Given the description of an element on the screen output the (x, y) to click on. 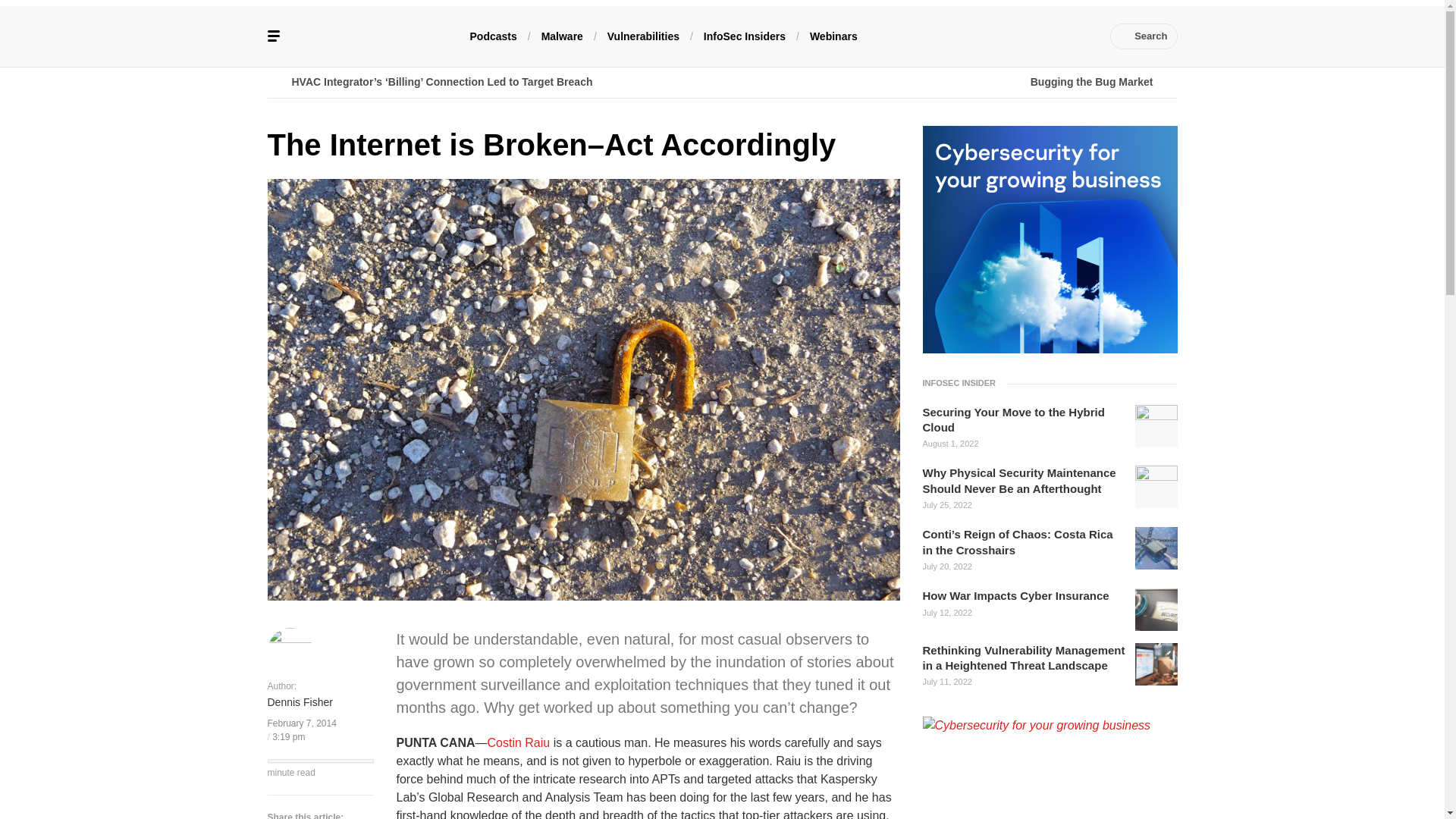
InfoSec Insiders (744, 35)
Twitter (966, 36)
RSS (1080, 36)
Securing Your Move to the Hybrid Cloud (1023, 419)
Bugging the Bug Market (949, 82)
YouTube (1012, 36)
Feedly (1034, 36)
LinkedIn (989, 36)
Search (1143, 36)
Threatpost (379, 36)
